Given the description of an element on the screen output the (x, y) to click on. 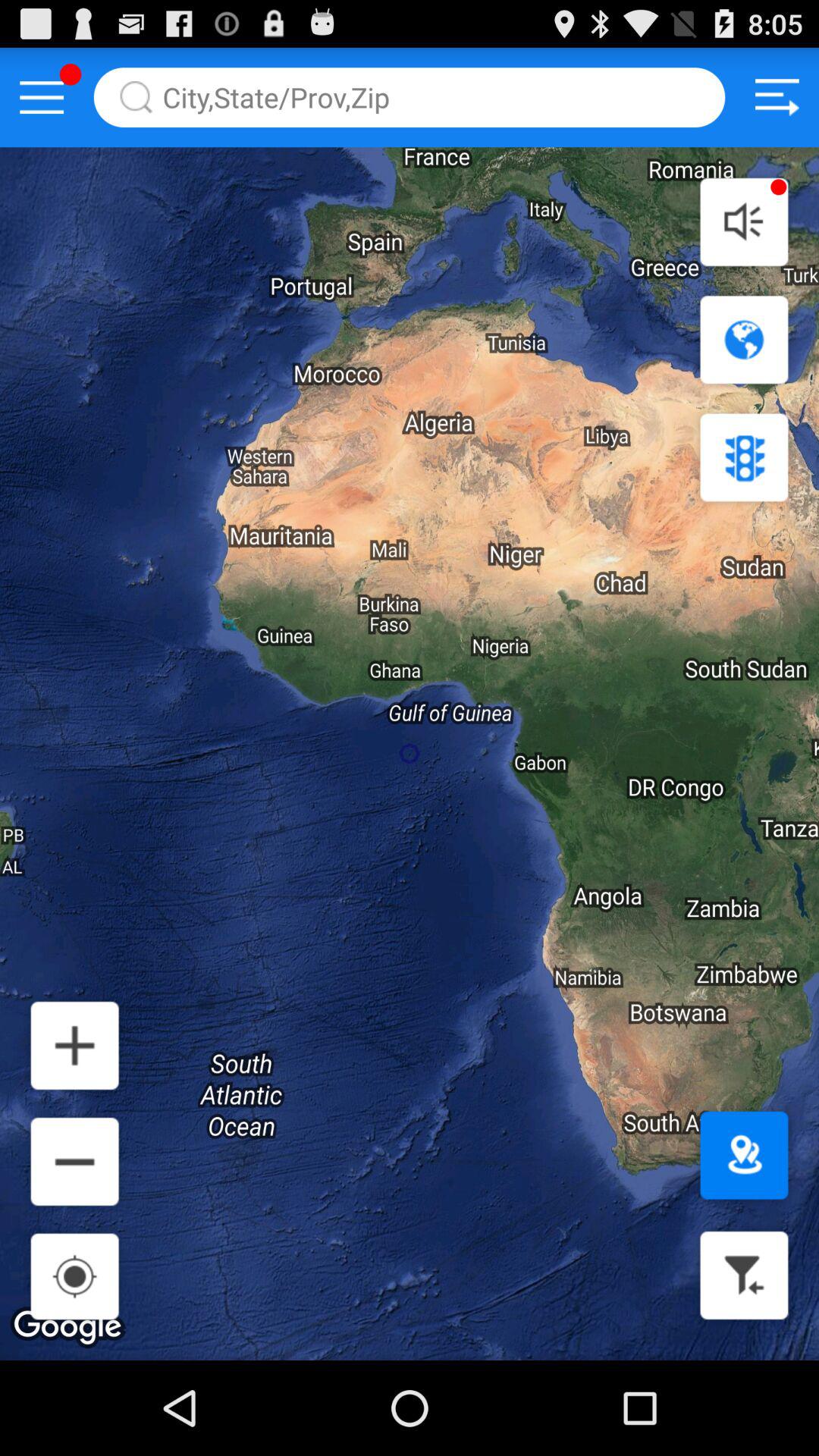
filter (744, 1275)
